Given the description of an element on the screen output the (x, y) to click on. 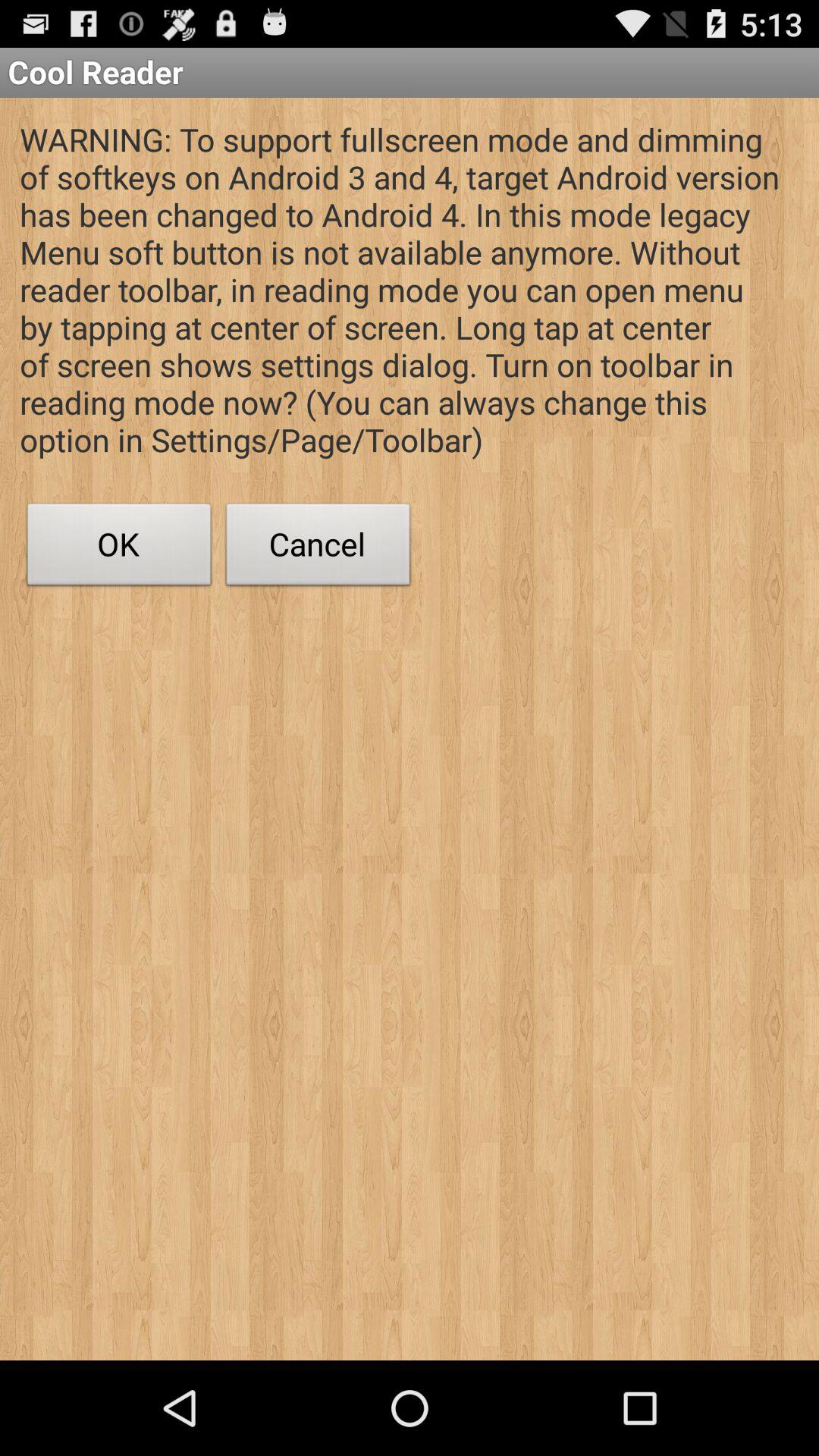
jump to the ok button (118, 548)
